Given the description of an element on the screen output the (x, y) to click on. 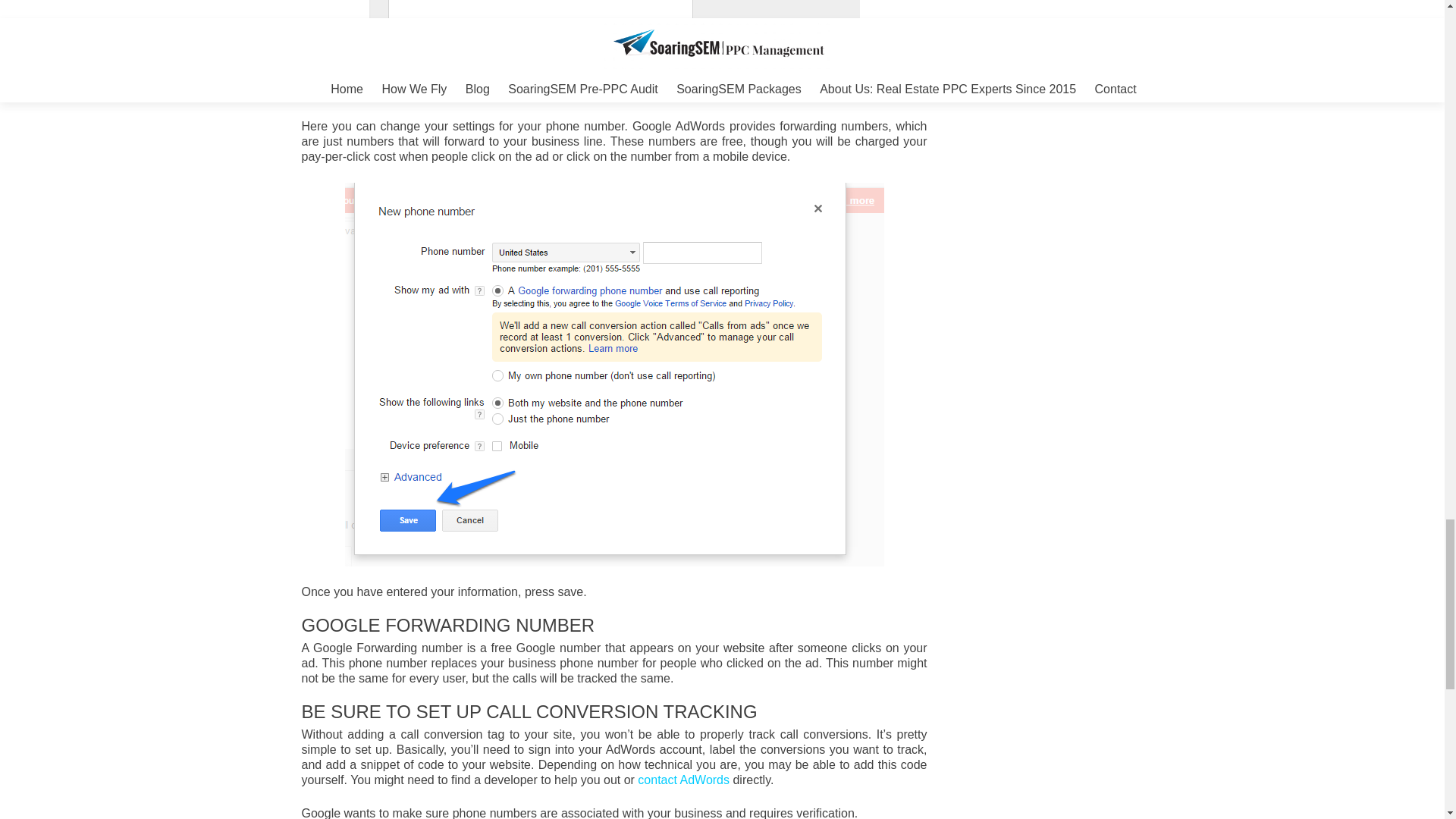
contact AdWords (683, 779)
